Given the description of an element on the screen output the (x, y) to click on. 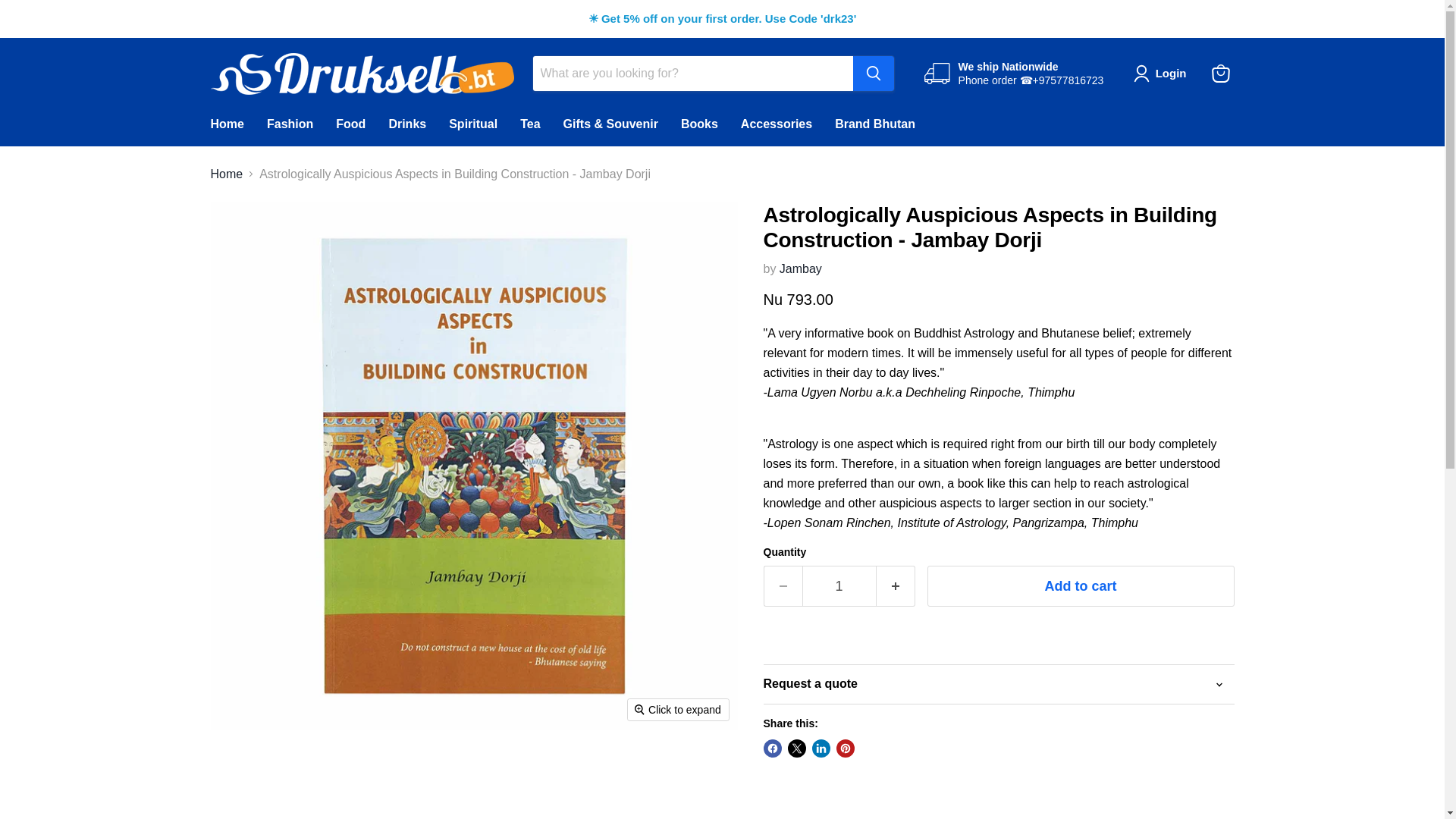
Jambay (800, 268)
Click to expand (678, 709)
Books (699, 123)
1 (839, 586)
Brand Bhutan (875, 123)
Food (350, 123)
Accessories (776, 123)
Drinks (407, 123)
Home (227, 173)
Login (1163, 73)
